Given the description of an element on the screen output the (x, y) to click on. 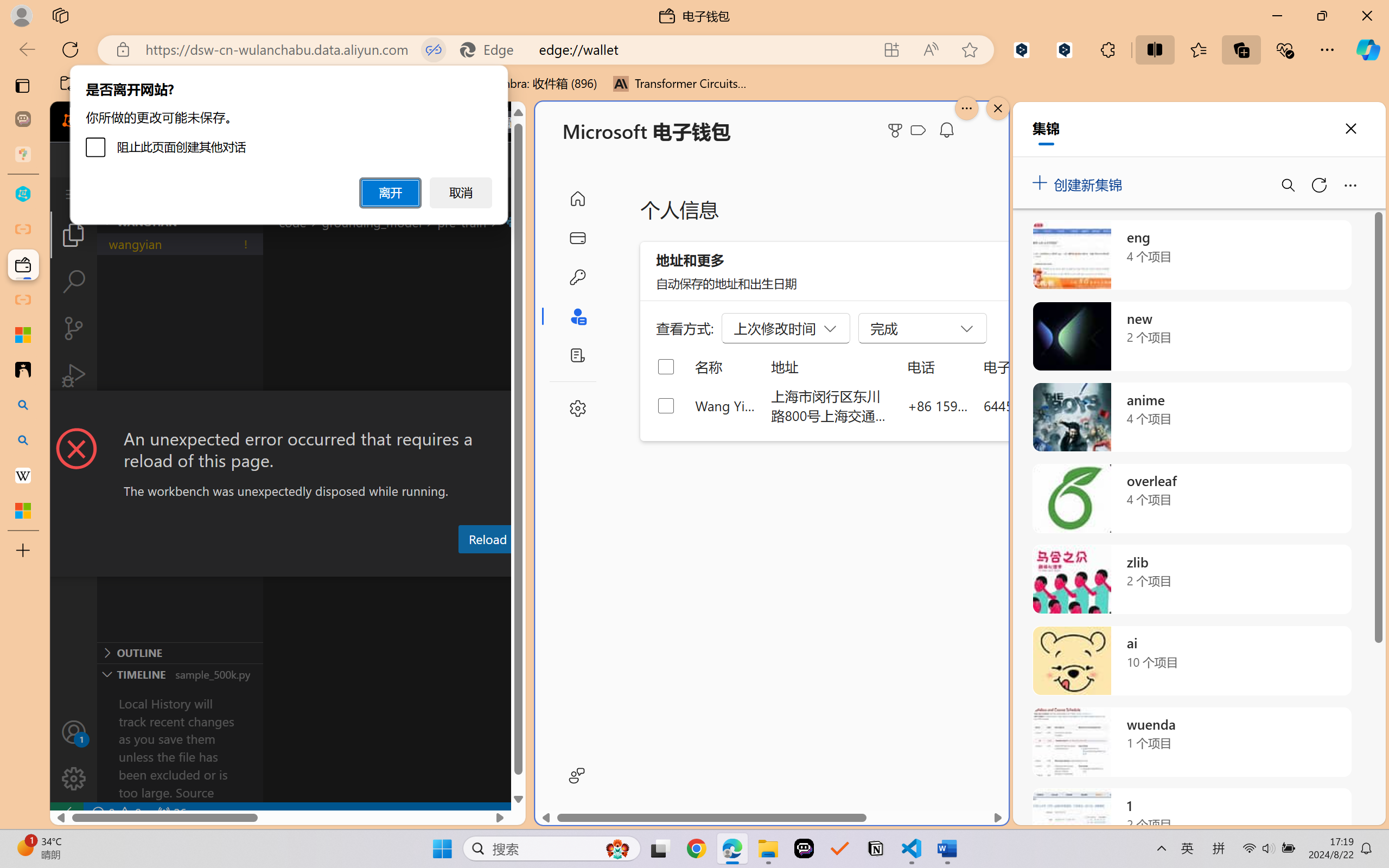
Run and Debug (Ctrl+Shift+D) (73, 375)
Output (Ctrl+Shift+U) (377, 565)
Copilot (Ctrl+Shift+.) (1368, 49)
Microsoft Cashback (920, 130)
Reload (486, 538)
Transformer Circuits Thread (680, 83)
